Given the description of an element on the screen output the (x, y) to click on. 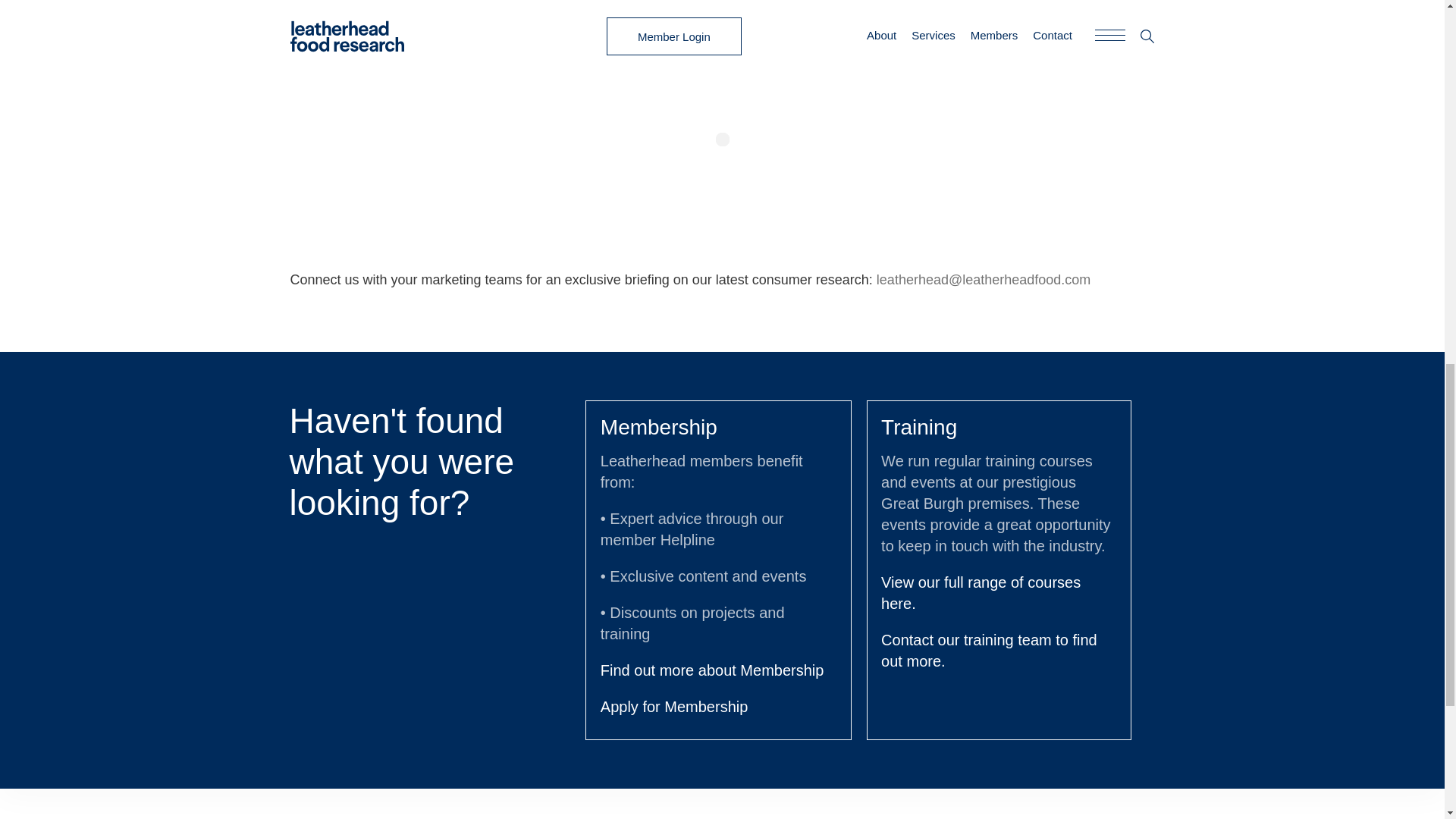
View our full range of courses here. (980, 592)
Find out more about Membership (711, 669)
Contact our training team to find out more. (988, 650)
Apply for Membership (673, 706)
